Given the description of an element on the screen output the (x, y) to click on. 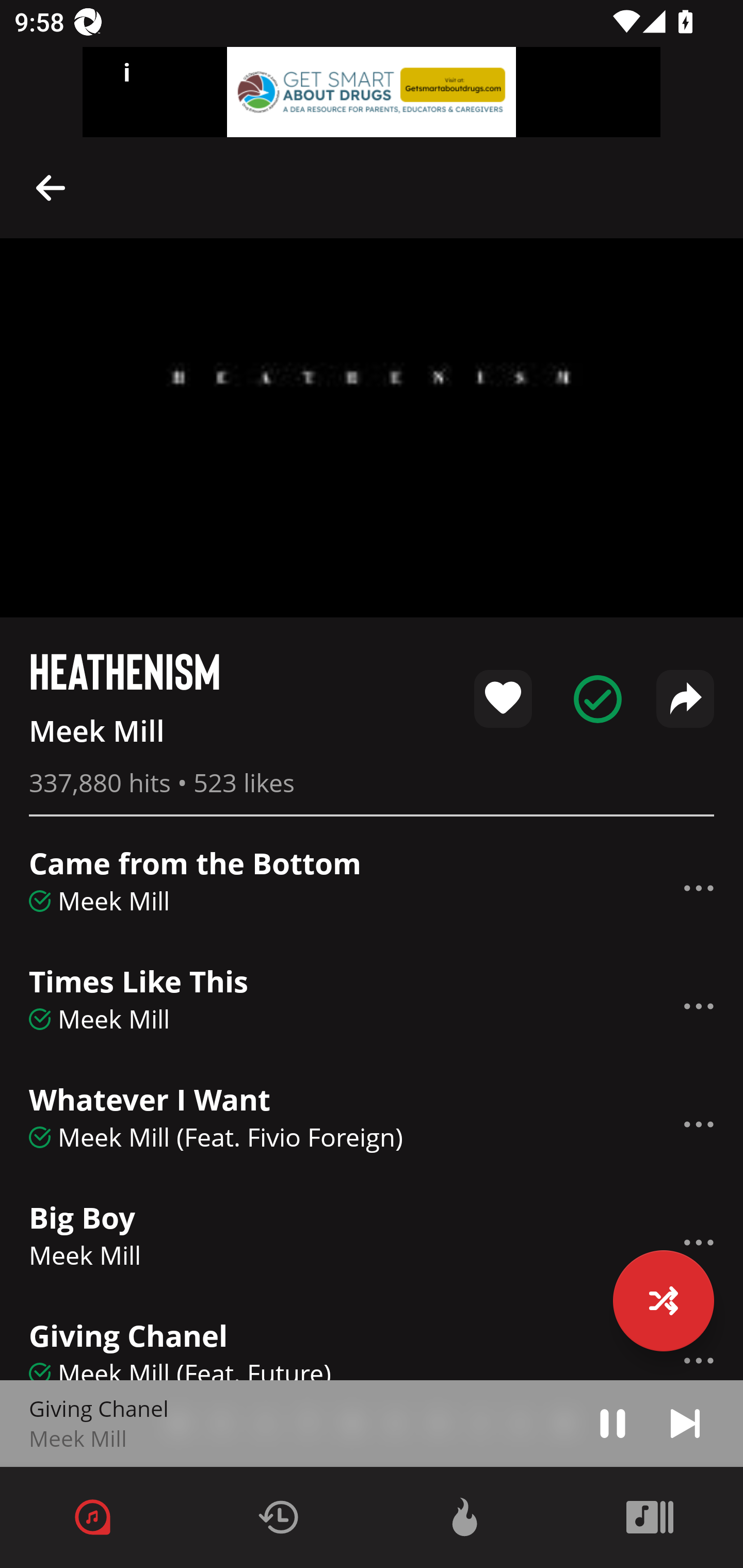
Description (50, 187)
Description (698, 888)
Times Like This Description Meek Mill Description (371, 1005)
Description (698, 1005)
Description (698, 1124)
Big Boy Meek Mill Description (371, 1242)
Description (698, 1242)
Description (698, 1353)
Giving Chanel Meek Mill Description Description (371, 1423)
Description (612, 1422)
Description (685, 1422)
